Given the description of an element on the screen output the (x, y) to click on. 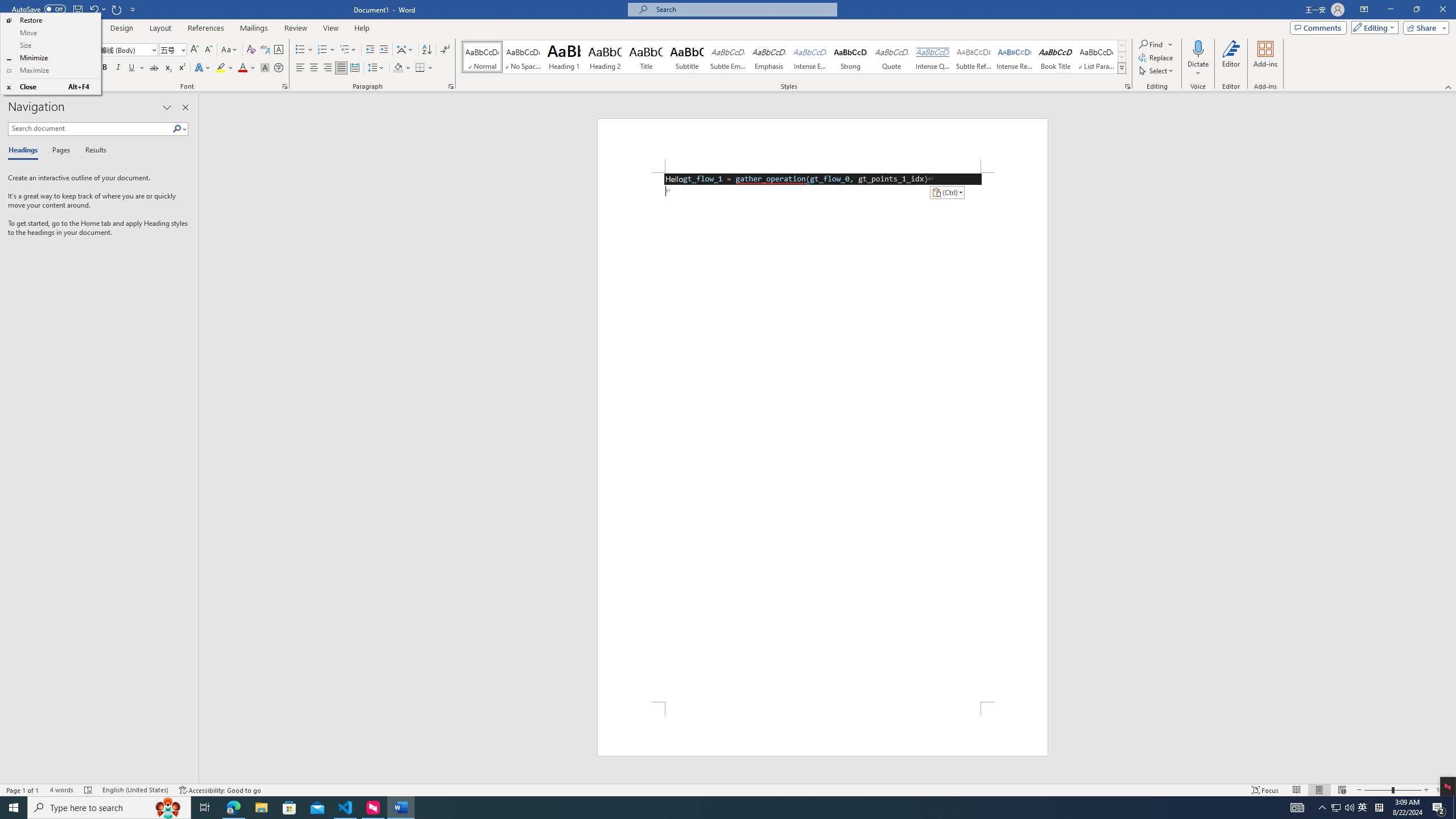
Subtitle (686, 56)
